Given the description of an element on the screen output the (x, y) to click on. 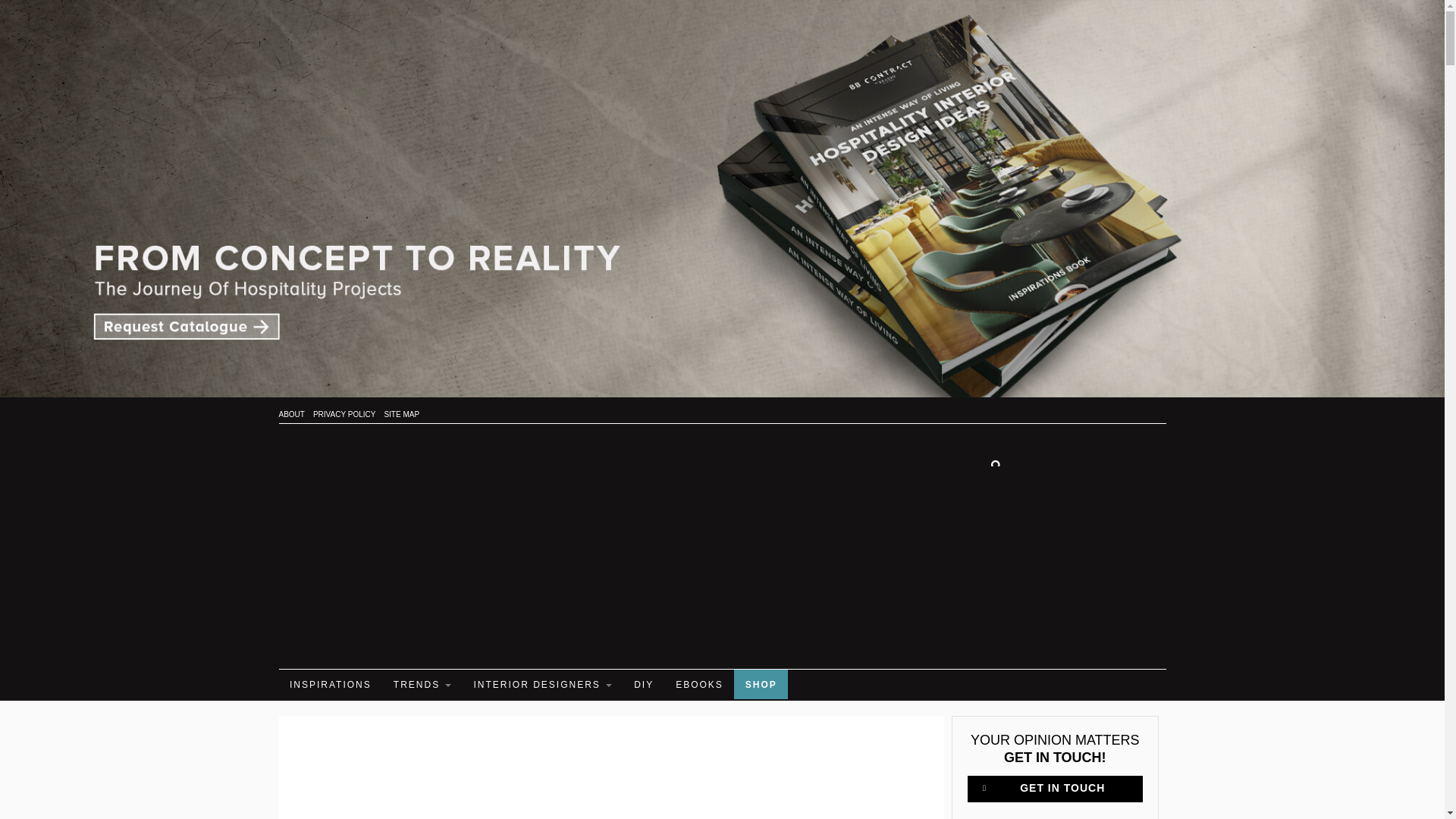
EBOOKS (699, 683)
DIY (643, 683)
INSPIRATIONS (330, 683)
Room Decor Ideas (385, 542)
ABOUT (291, 414)
Inspirations (330, 683)
SHOP (761, 683)
Ebooks (699, 683)
Interior Designers (542, 683)
TRENDS (422, 683)
